Given the description of an element on the screen output the (x, y) to click on. 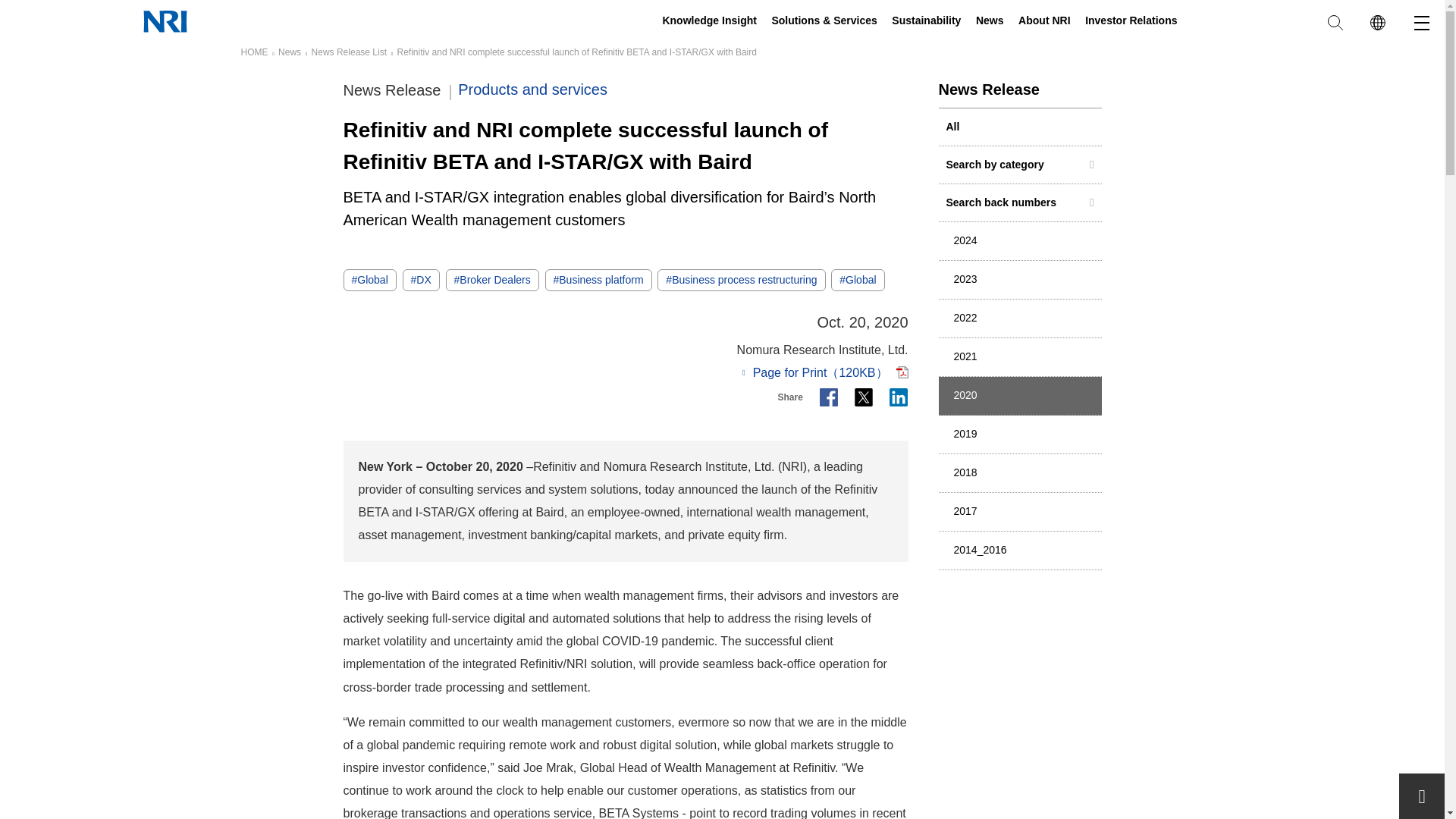
About NRI (1043, 22)
Sustainability (925, 22)
Knowledge Insight (708, 22)
Investor Relations (1130, 22)
